Given the description of an element on the screen output the (x, y) to click on. 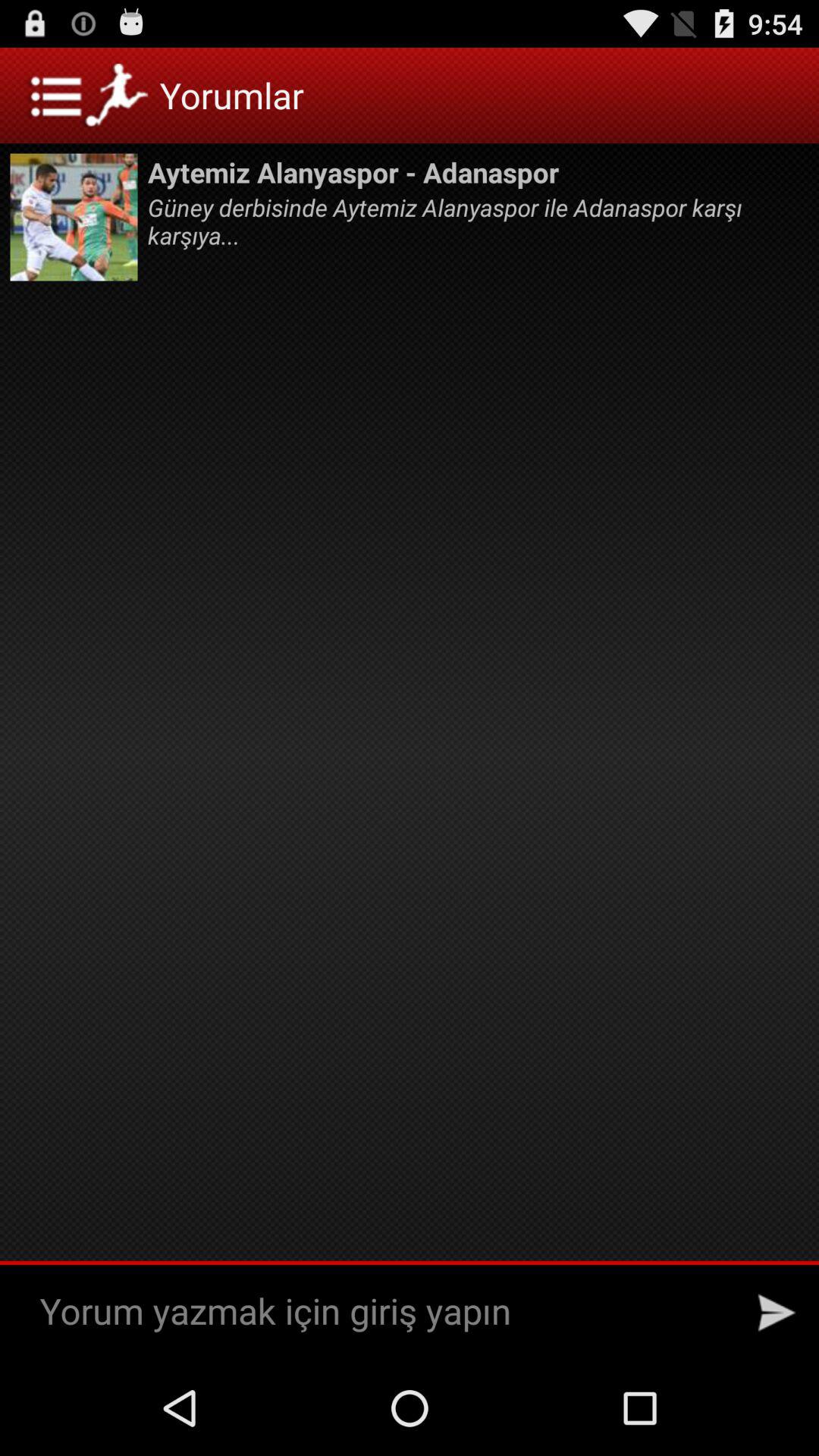
send message (776, 1312)
